Given the description of an element on the screen output the (x, y) to click on. 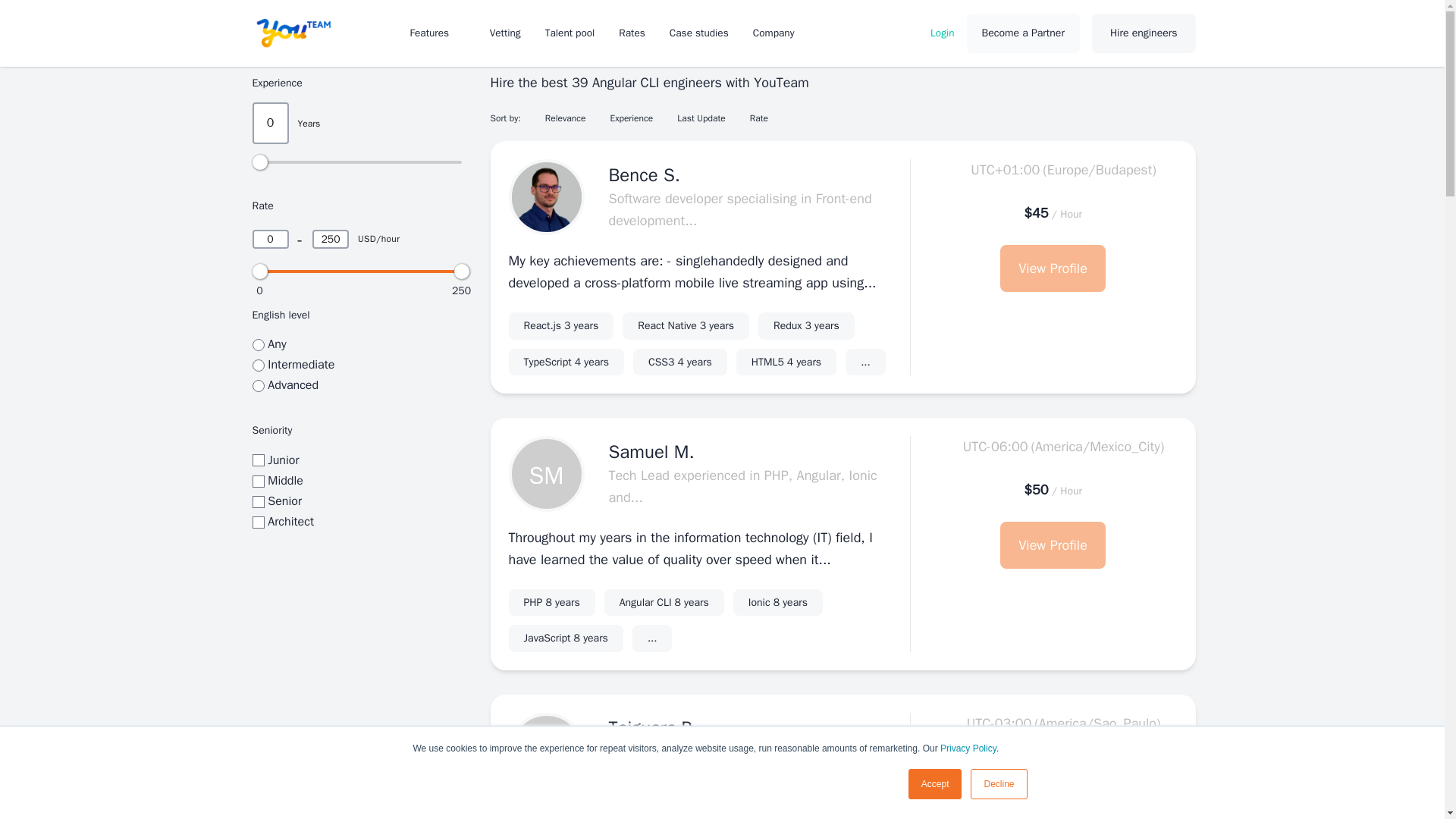
2 (257, 365)
Accept (935, 784)
Talent pool (551, 602)
0 (777, 602)
0 (569, 32)
Login (257, 345)
0 (257, 460)
Company (942, 32)
Decline (269, 239)
3 (565, 637)
View Profile (781, 32)
